Given the description of an element on the screen output the (x, y) to click on. 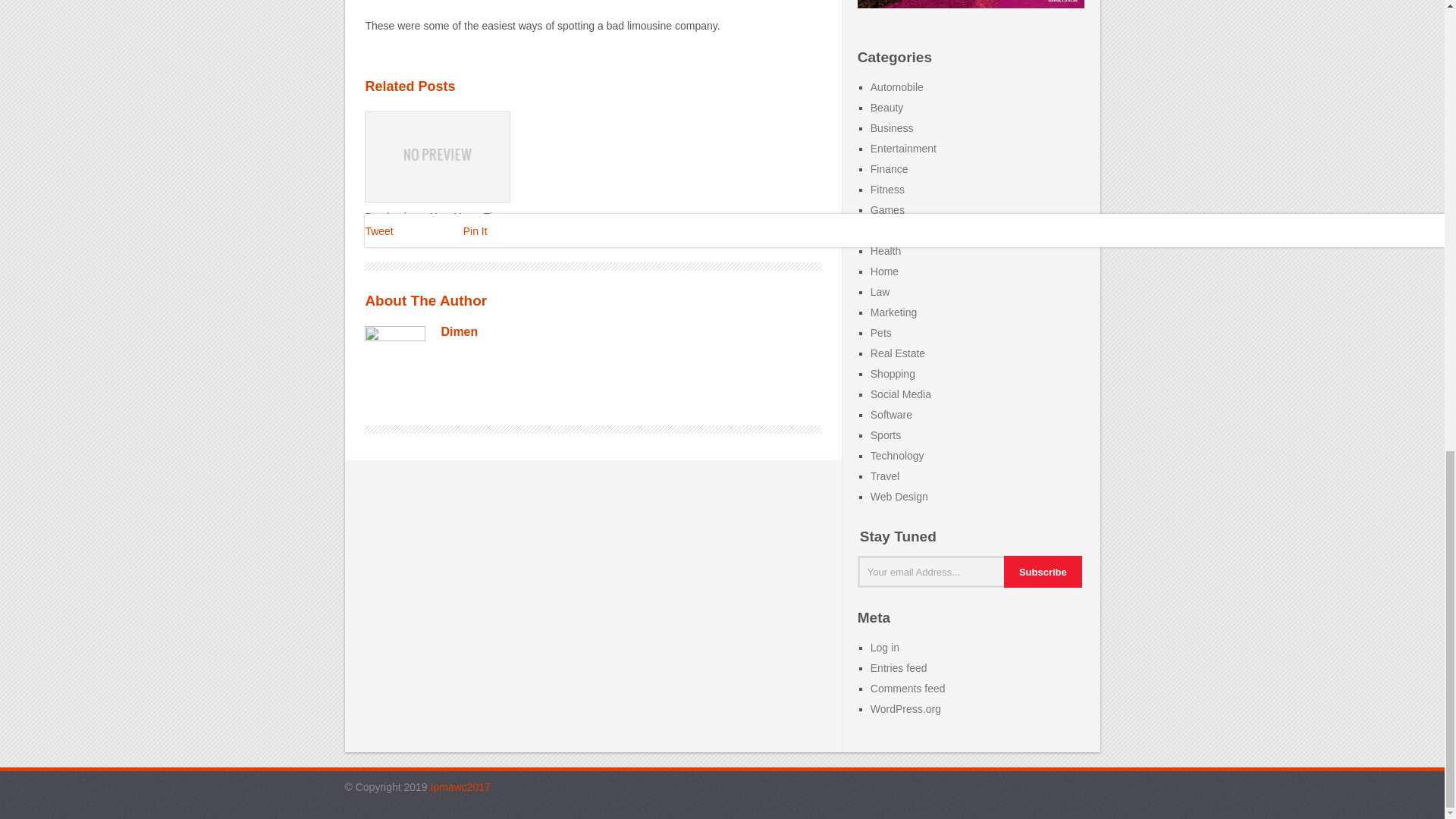
Games (887, 209)
Subscribe (1042, 572)
Entertainment (903, 148)
Beauty (887, 107)
Dimen (459, 331)
Fitness (887, 189)
Marketing (893, 312)
Law (879, 291)
Finance (889, 168)
General (889, 230)
Your email Address... (935, 571)
Health (885, 250)
Home (884, 271)
Automobile (896, 87)
Business (892, 128)
